Given the description of an element on the screen output the (x, y) to click on. 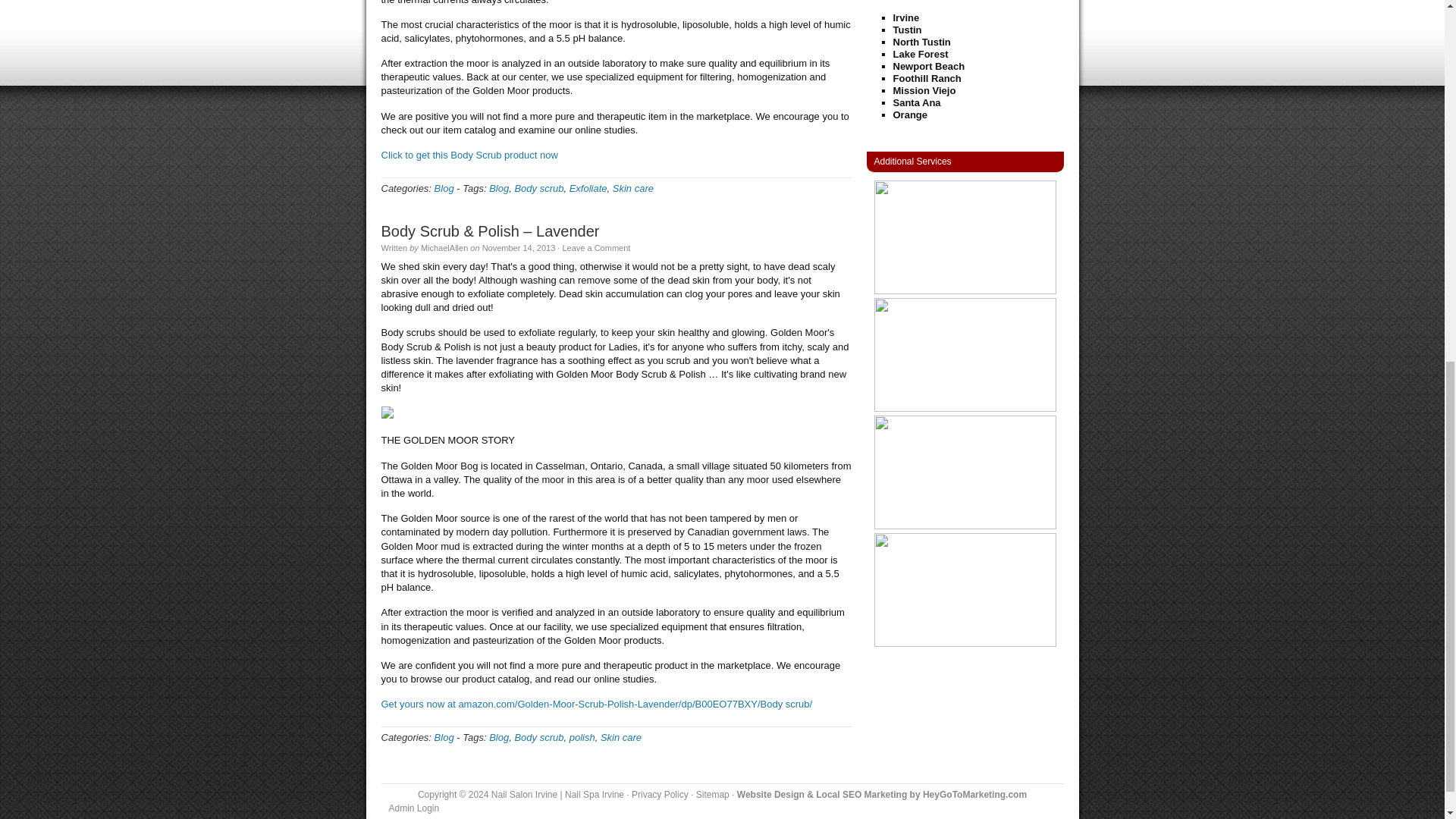
Privacy Policy (659, 794)
2013-11-14T16:09:40-0700 (518, 247)
Local SEO Marketing (861, 794)
Leave a Comment (596, 247)
HeyGoToMarketing.com (974, 794)
Skin care (620, 737)
MichaelAllen (443, 247)
Sitemap (712, 794)
Click to get this Body Scrub product now (468, 154)
polish (582, 737)
